Given the description of an element on the screen output the (x, y) to click on. 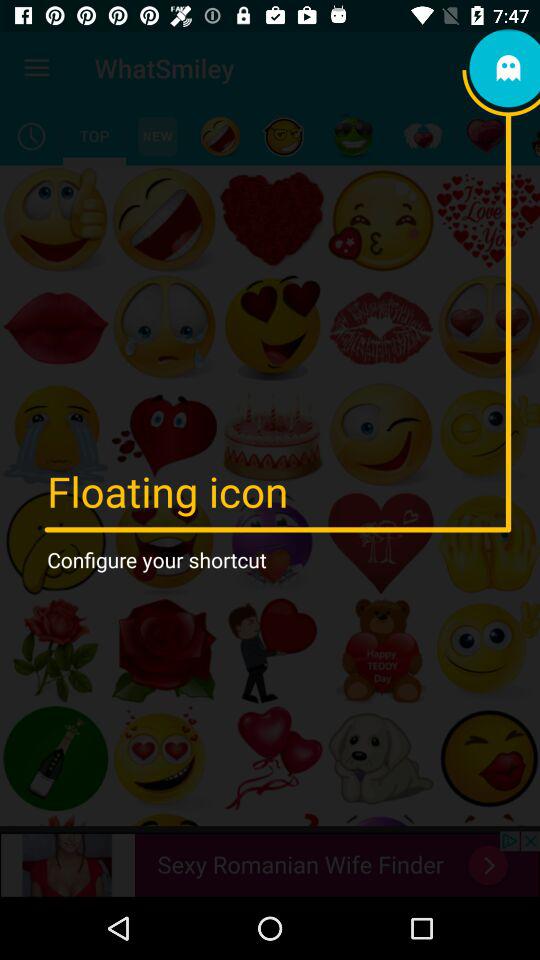
select advertisement (270, 864)
